Given the description of an element on the screen output the (x, y) to click on. 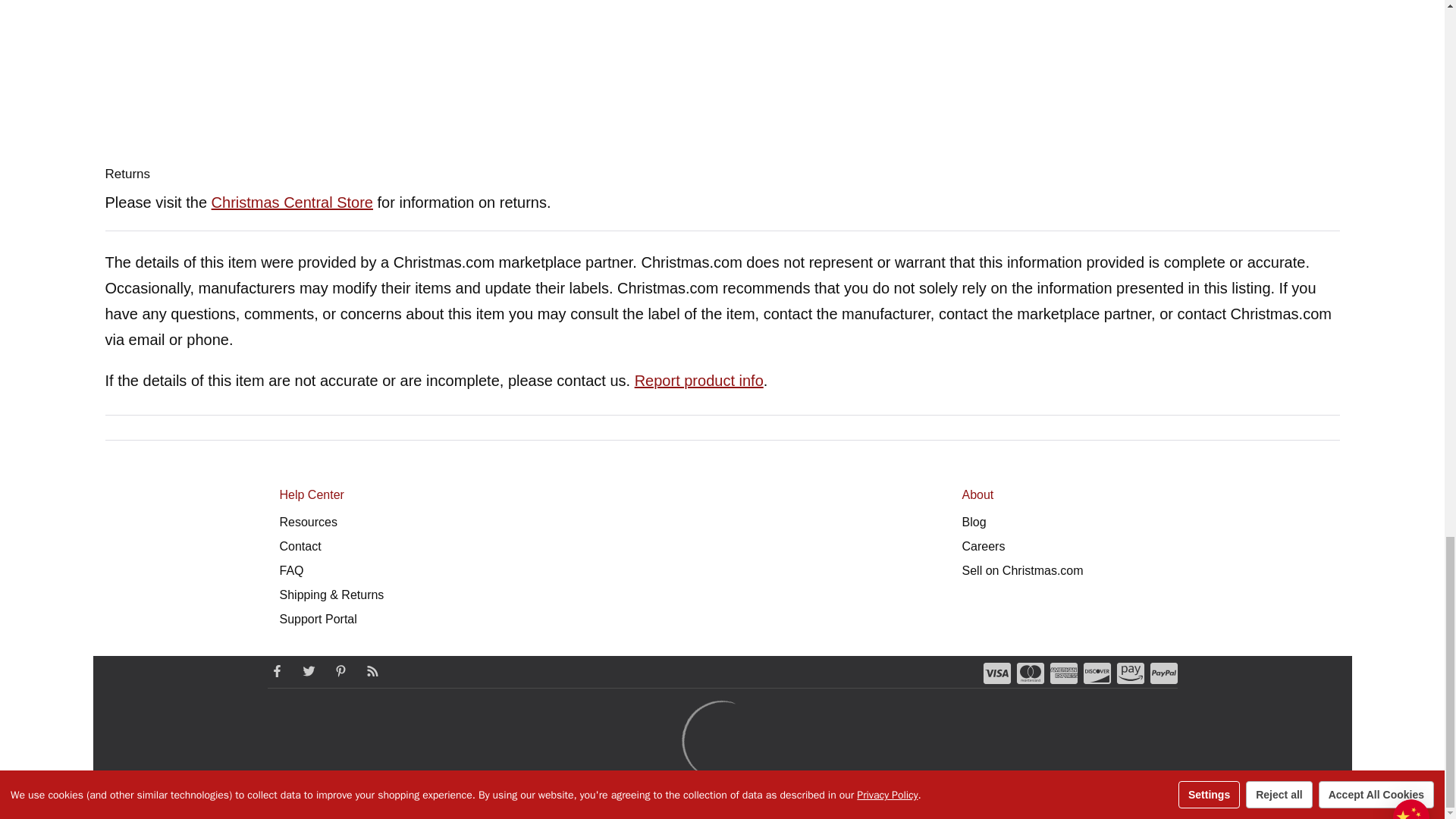
MasterCard (1029, 672)
PayPal (1163, 672)
Amazon Pay (1129, 672)
Visa (996, 672)
Visa (996, 672)
Discover (1096, 672)
American Express (1063, 672)
Amazon Pay (1129, 672)
PayPal (1163, 672)
Discover (1096, 672)
MasterCard (1029, 672)
American Express (1063, 672)
